Given the description of an element on the screen output the (x, y) to click on. 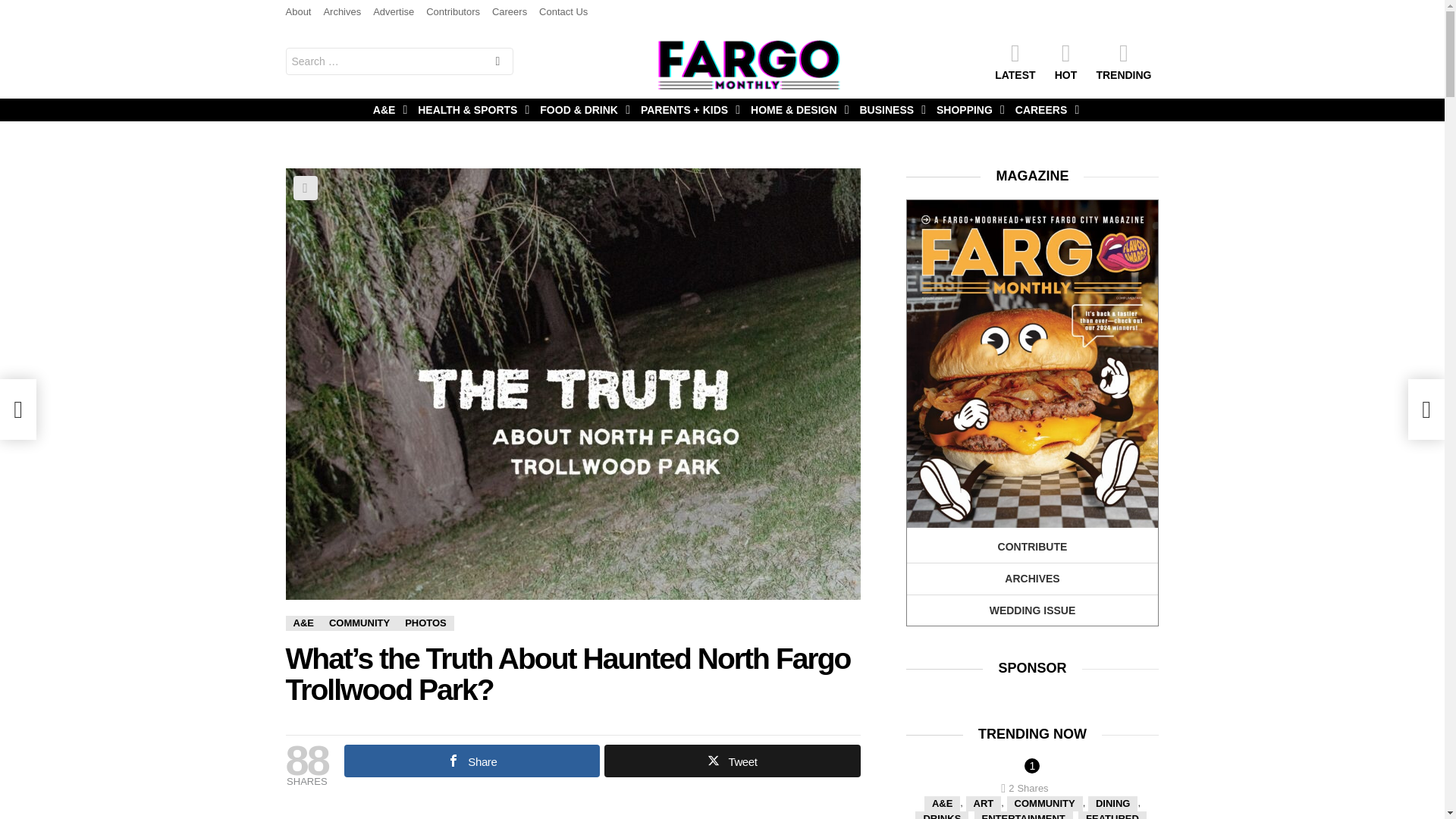
Careers (509, 12)
Contact Us (563, 12)
Advertise (392, 12)
HOT (1064, 60)
SEARCH (496, 62)
Archives (342, 12)
Search for: (398, 61)
About (298, 12)
Contributors (453, 12)
TRENDING (1122, 60)
